Given the description of an element on the screen output the (x, y) to click on. 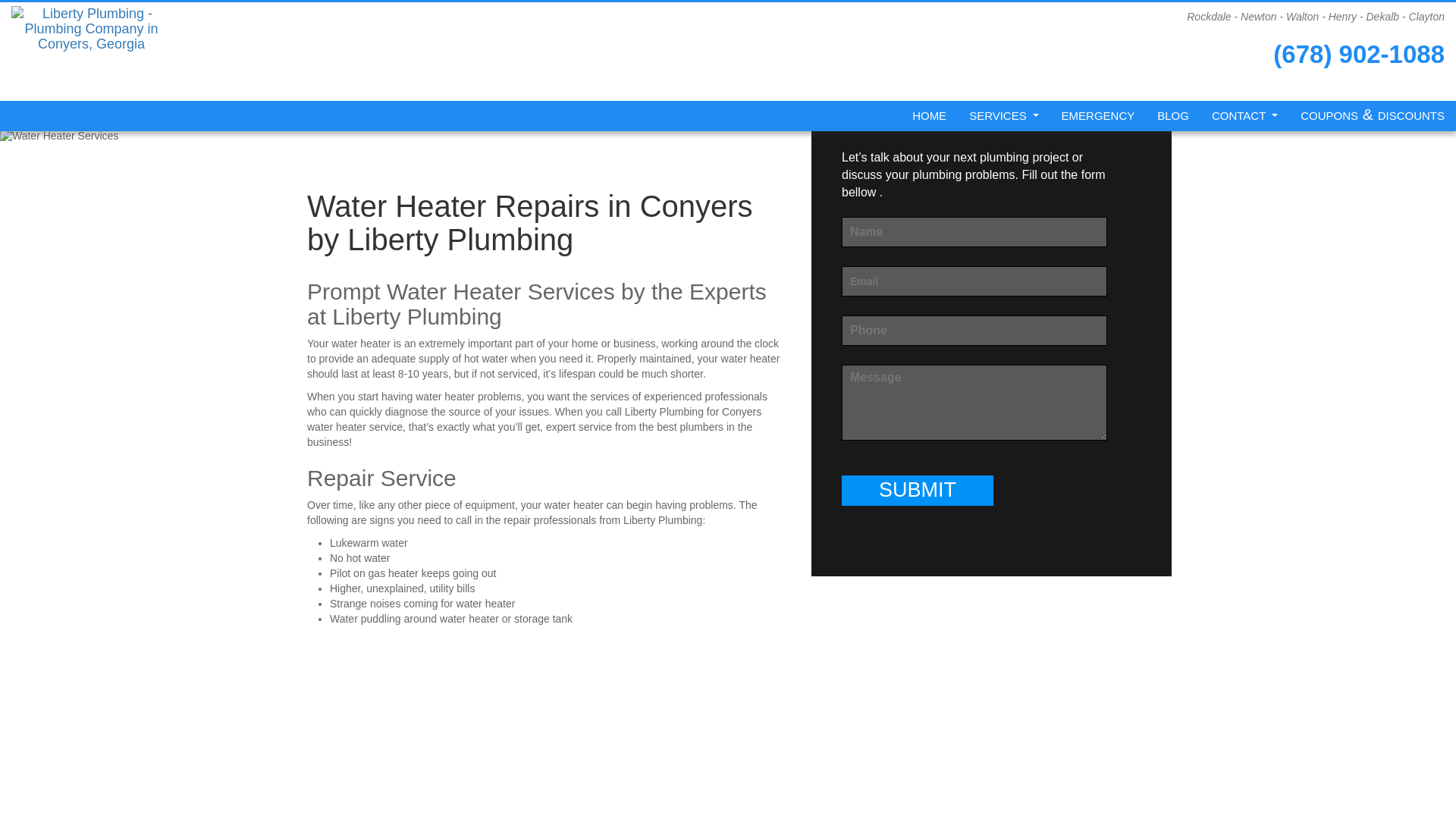
contact (1243, 115)
blog (1172, 115)
Liberty Plumbing (929, 115)
24 Hour Emergency Plumbing Services (1098, 115)
Submit (916, 490)
Plumbing Services (1003, 115)
emergency (1098, 115)
Atlanta - McDonough Plumbing (91, 16)
Contact Liberty Plumbing (1243, 115)
services (1003, 115)
